Given the description of an element on the screen output the (x, y) to click on. 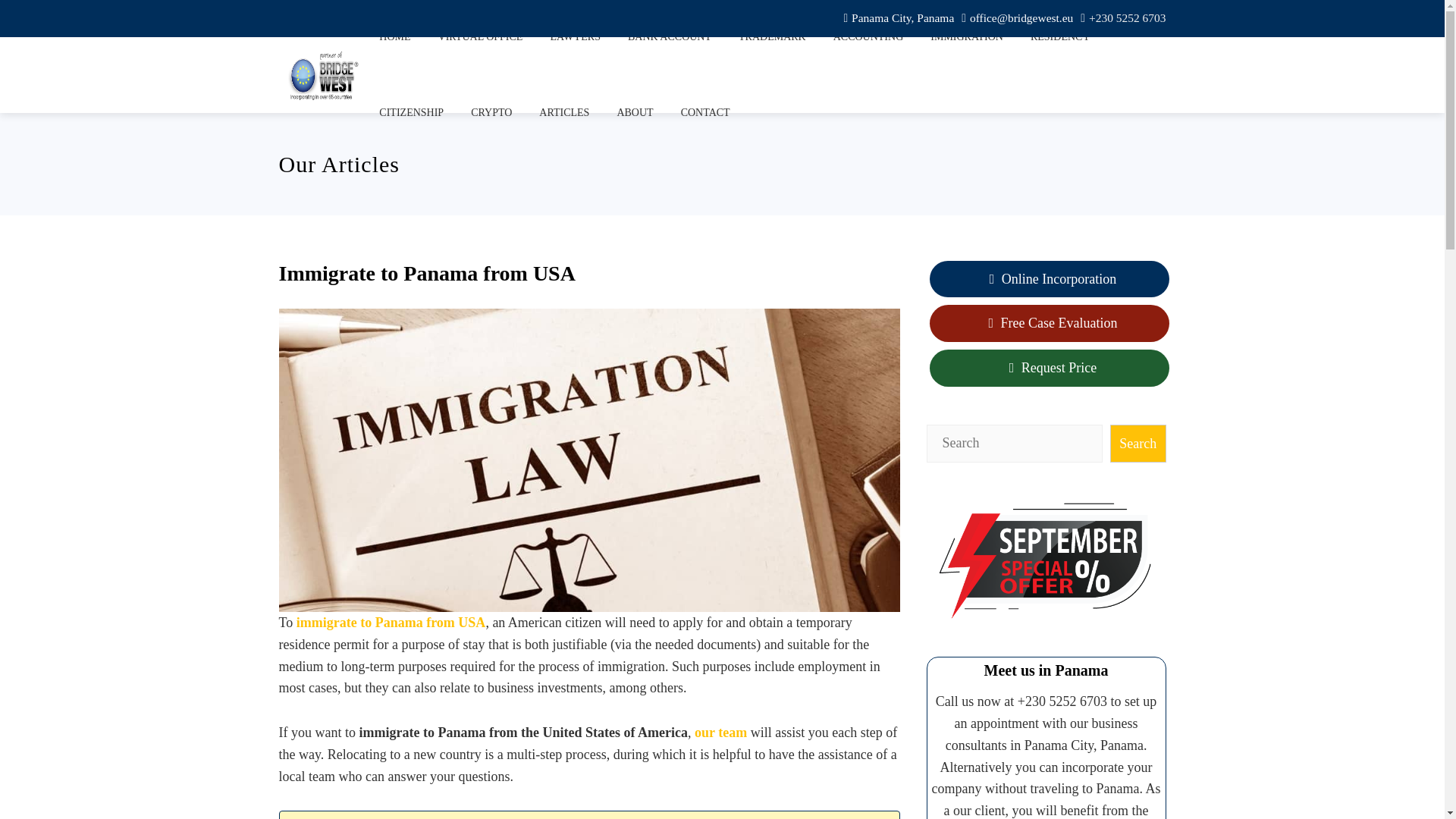
VIRTUAL OFFICE (480, 37)
ARTICLES (563, 112)
CITIZENSHIP (411, 112)
immigrate to Panama from USA (391, 622)
BANK ACCOUNT (668, 37)
TRADEMARK (771, 37)
RESIDENCY (1060, 37)
CONTACT (705, 112)
our team (720, 732)
LAWYERS (574, 37)
